Given the description of an element on the screen output the (x, y) to click on. 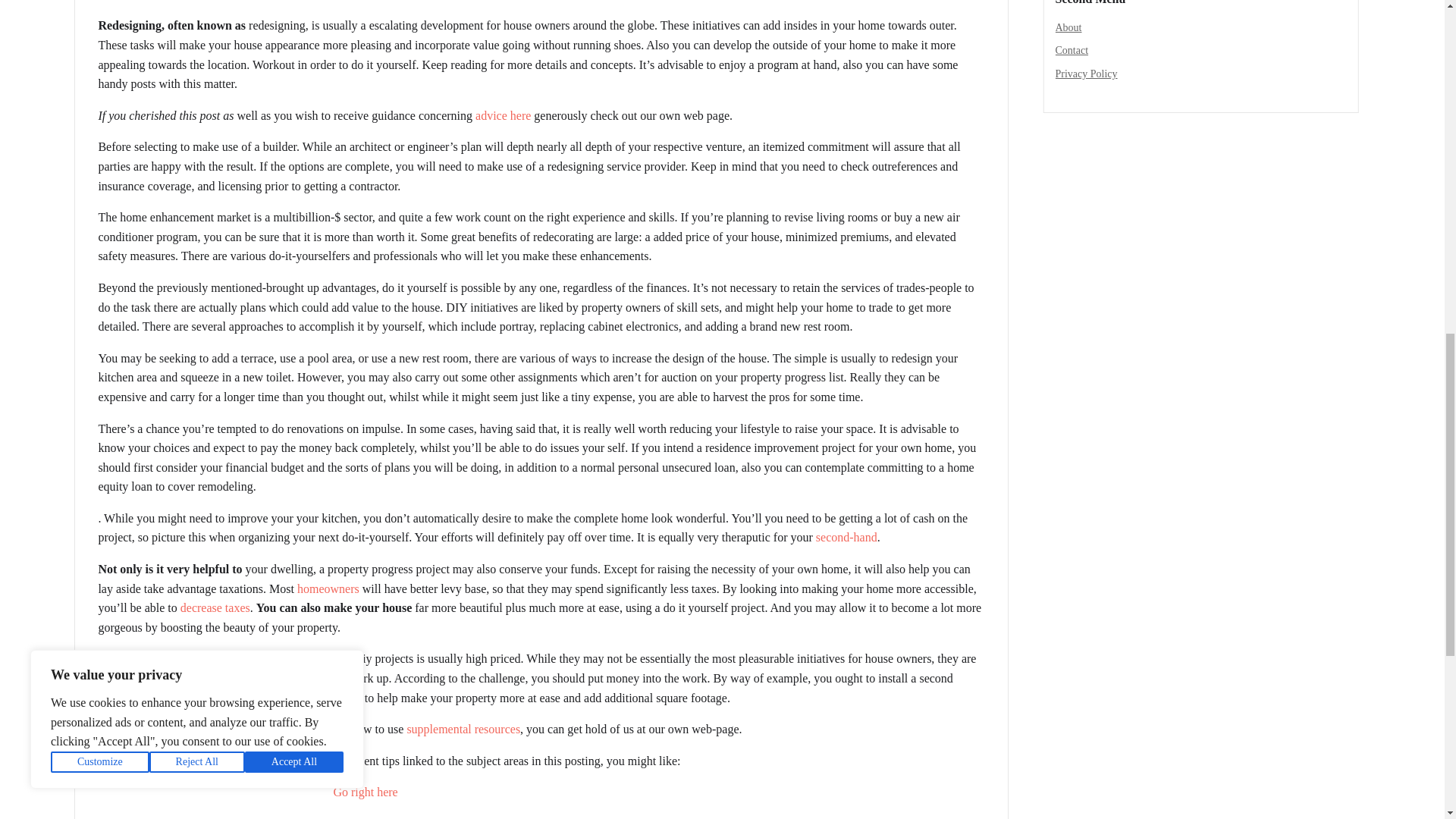
visit the following page (390, 818)
admin (119, 0)
decrease taxes (215, 607)
second-hand (846, 536)
homeowners (328, 588)
advice here (503, 115)
supplemental resources (462, 728)
Go right here (365, 791)
